Given the description of an element on the screen output the (x, y) to click on. 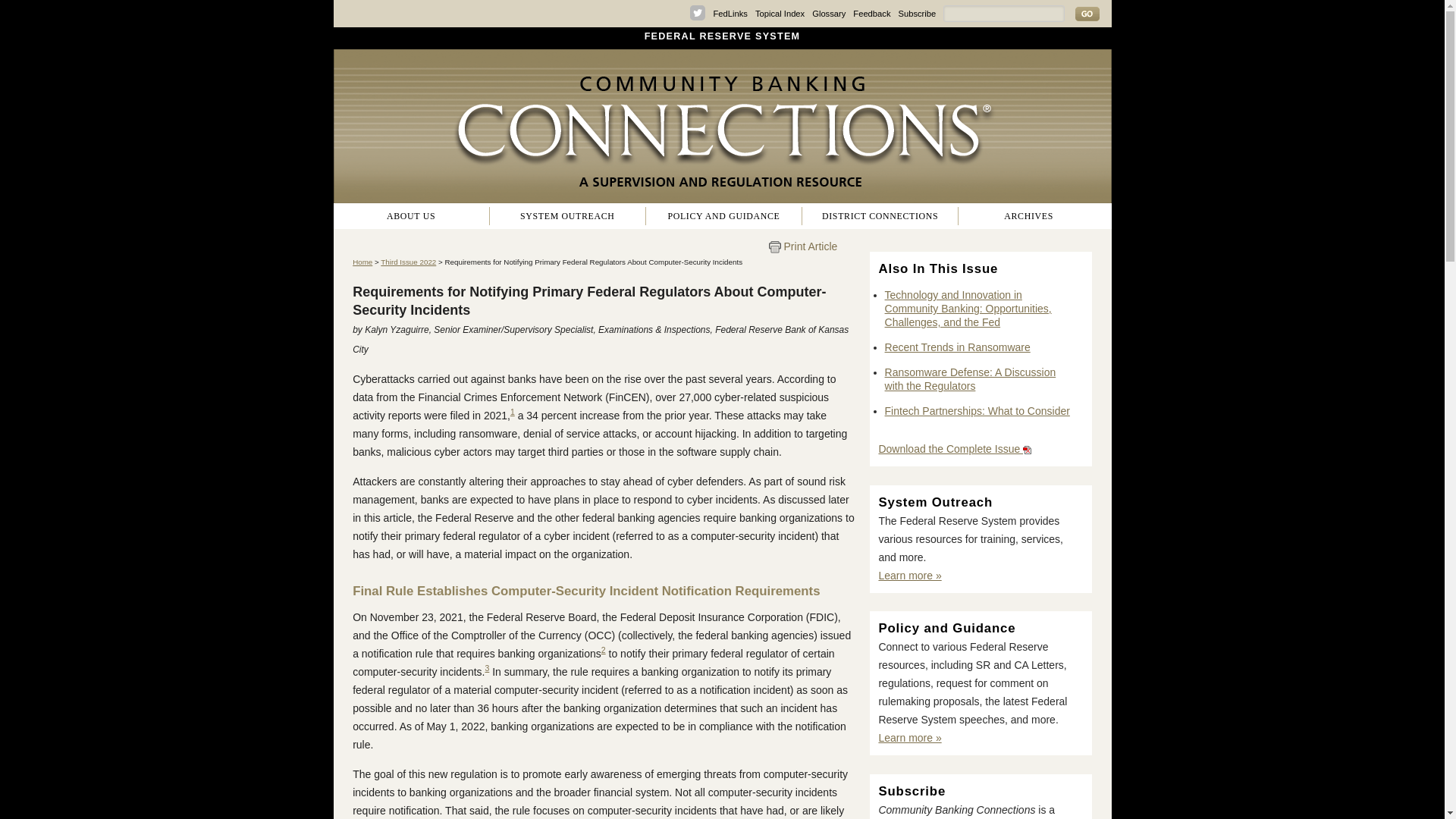
ARCHIVES (1028, 216)
Fintech Partnerships: What to Consider (977, 410)
Ransomware Defense: A Discussion with the Regulators (971, 379)
Glossary (828, 13)
Home (362, 261)
SYSTEM OUTREACH (567, 216)
ABOUT US (411, 216)
Download the Complete Issue (953, 449)
DISTRICT CONNECTIONS (880, 216)
